Given the description of an element on the screen output the (x, y) to click on. 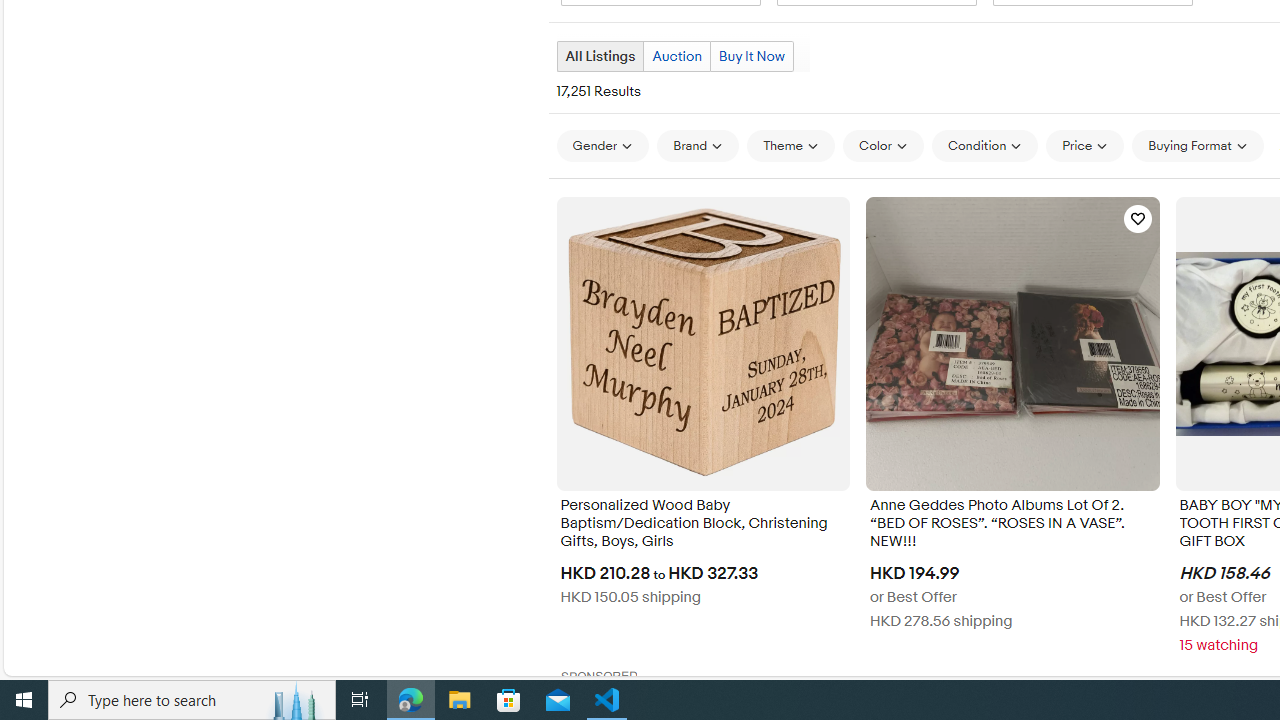
Condition (984, 145)
Buy It Now (751, 56)
All Listings Current view (599, 56)
Theme (791, 146)
Price (1085, 146)
Price (1085, 145)
Buying Format (1197, 145)
All Listings (599, 56)
Buy It Now (751, 56)
Condition (984, 146)
